Given the description of an element on the screen output the (x, y) to click on. 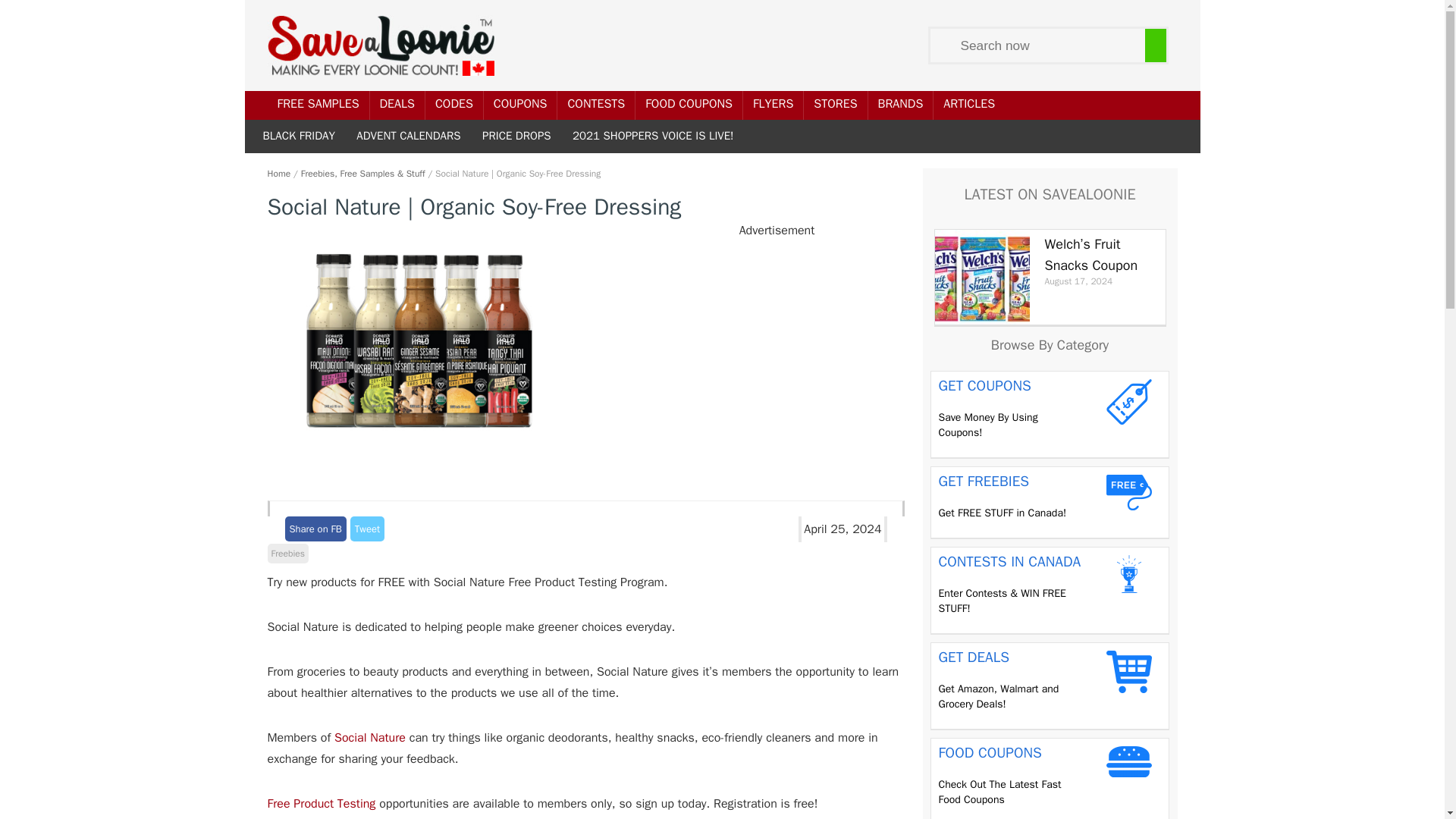
DEALS (397, 104)
BLACK FRIDAY (298, 135)
ARTICLES (968, 104)
Articles (968, 104)
BRANDS (900, 104)
COUPONS (520, 104)
Tweet (367, 528)
FOOD COUPONS (688, 104)
STORES (834, 104)
2021 SHOPPERS VOICE IS LIVE! (651, 135)
